Given the description of an element on the screen output the (x, y) to click on. 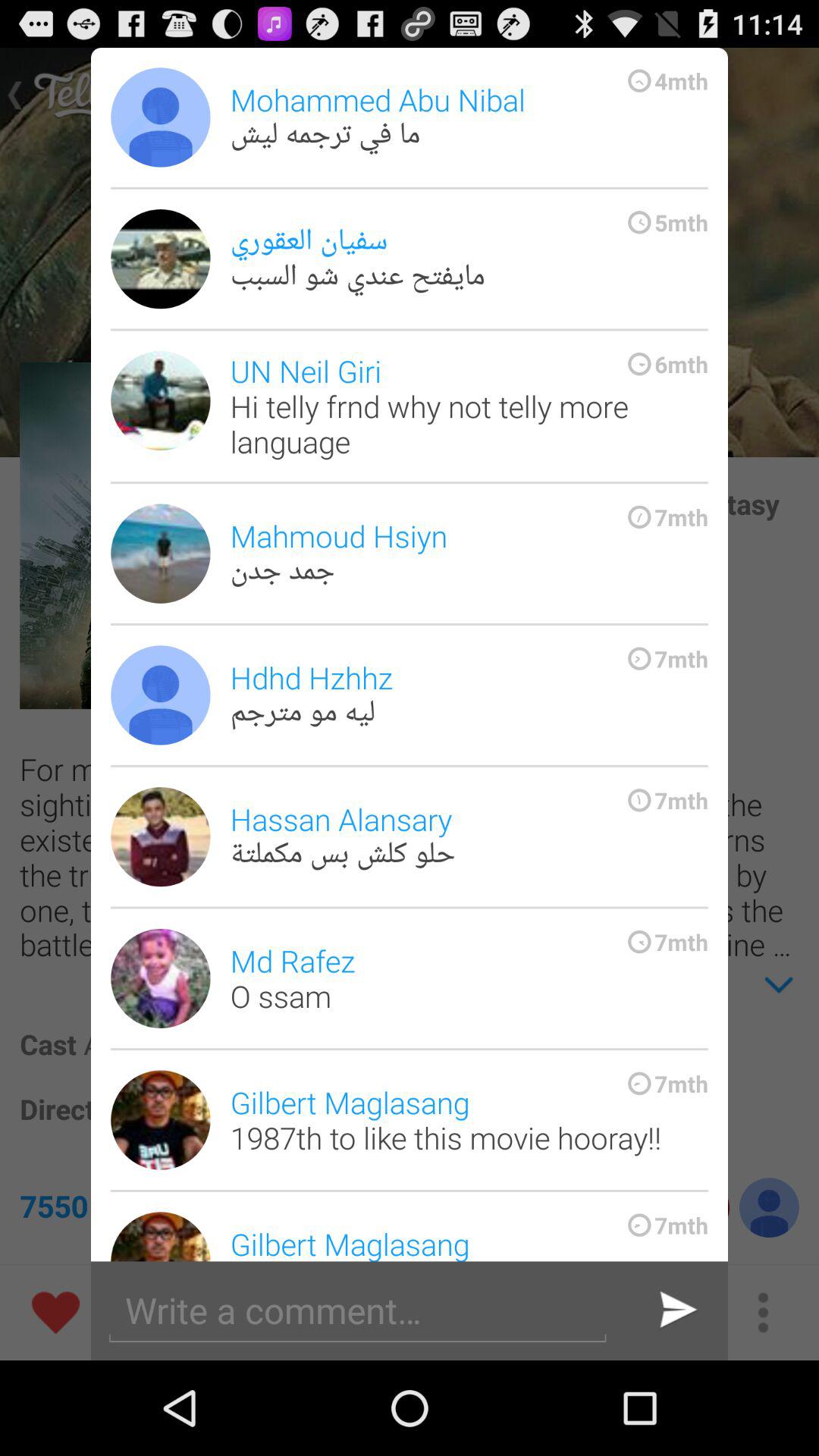
jump to the md rafez o item (469, 978)
